Given the description of an element on the screen output the (x, y) to click on. 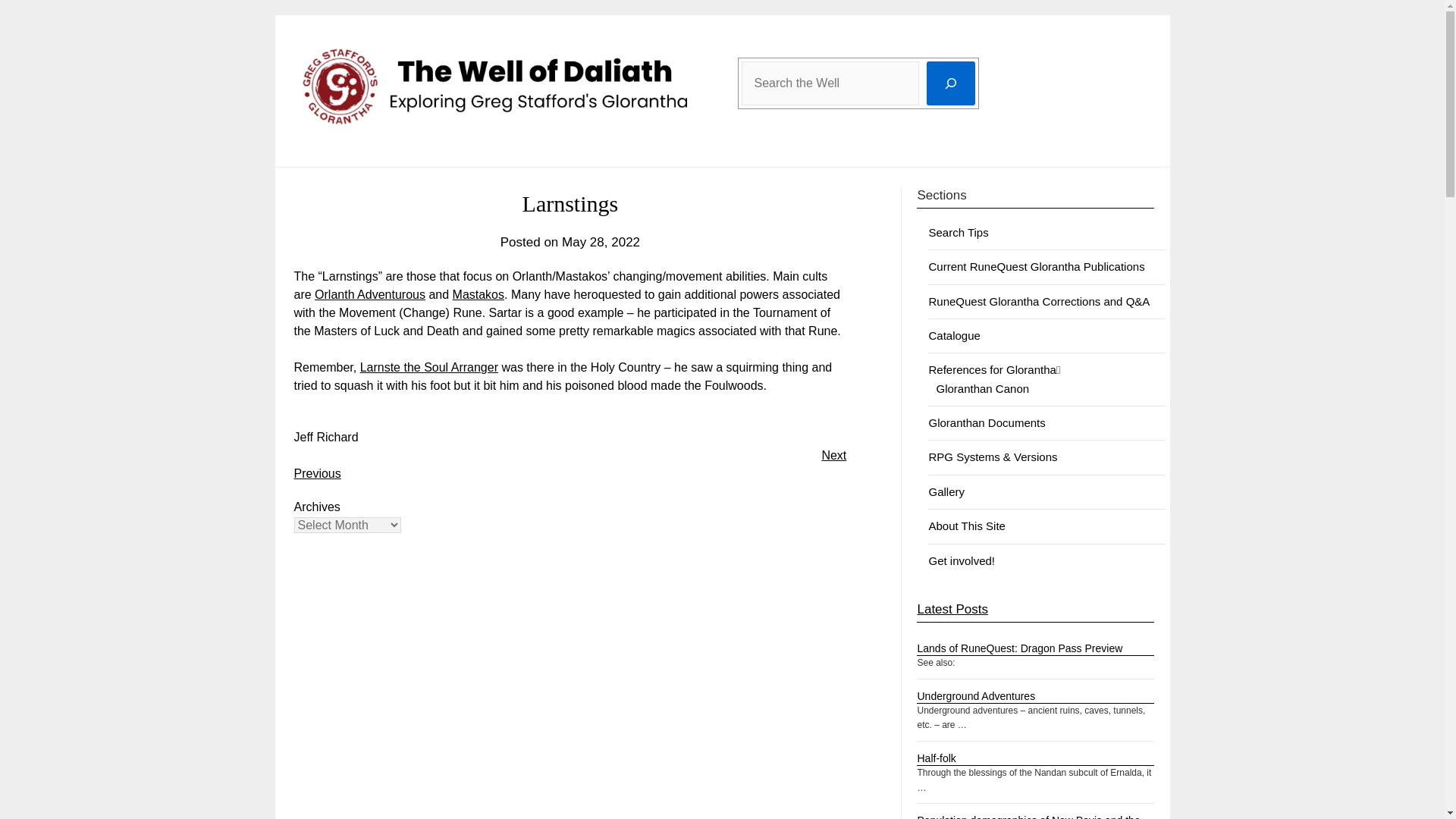
Previous (317, 472)
Larnste the Soul Arranger (428, 367)
Half-folk (936, 758)
Search Tips (958, 232)
References for Glorantha (991, 369)
Latest Posts (952, 608)
Catalogue (953, 335)
About This Site (966, 525)
Gallery (945, 491)
Population demographics of New Pavis and the Big Rubble (1028, 816)
